Given the description of an element on the screen output the (x, y) to click on. 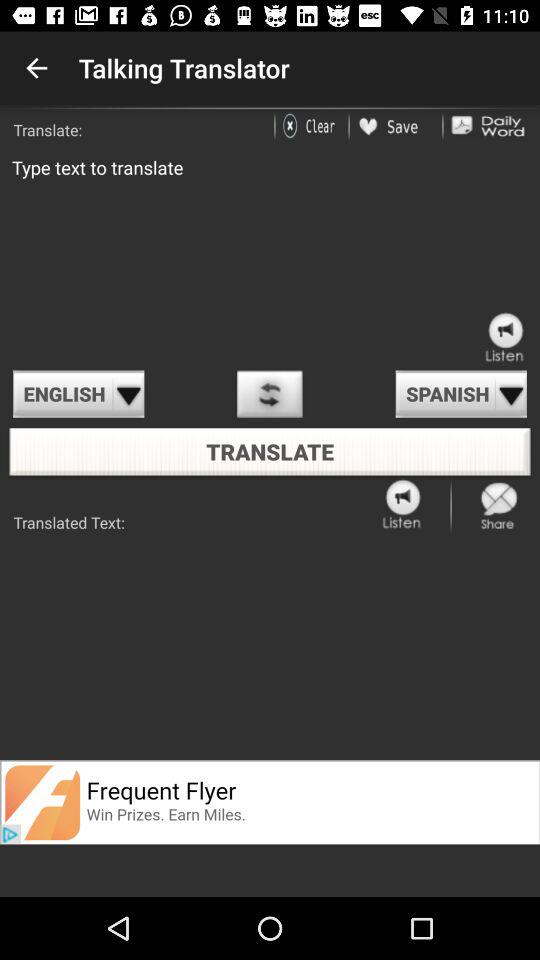
go to save (395, 125)
